Given the description of an element on the screen output the (x, y) to click on. 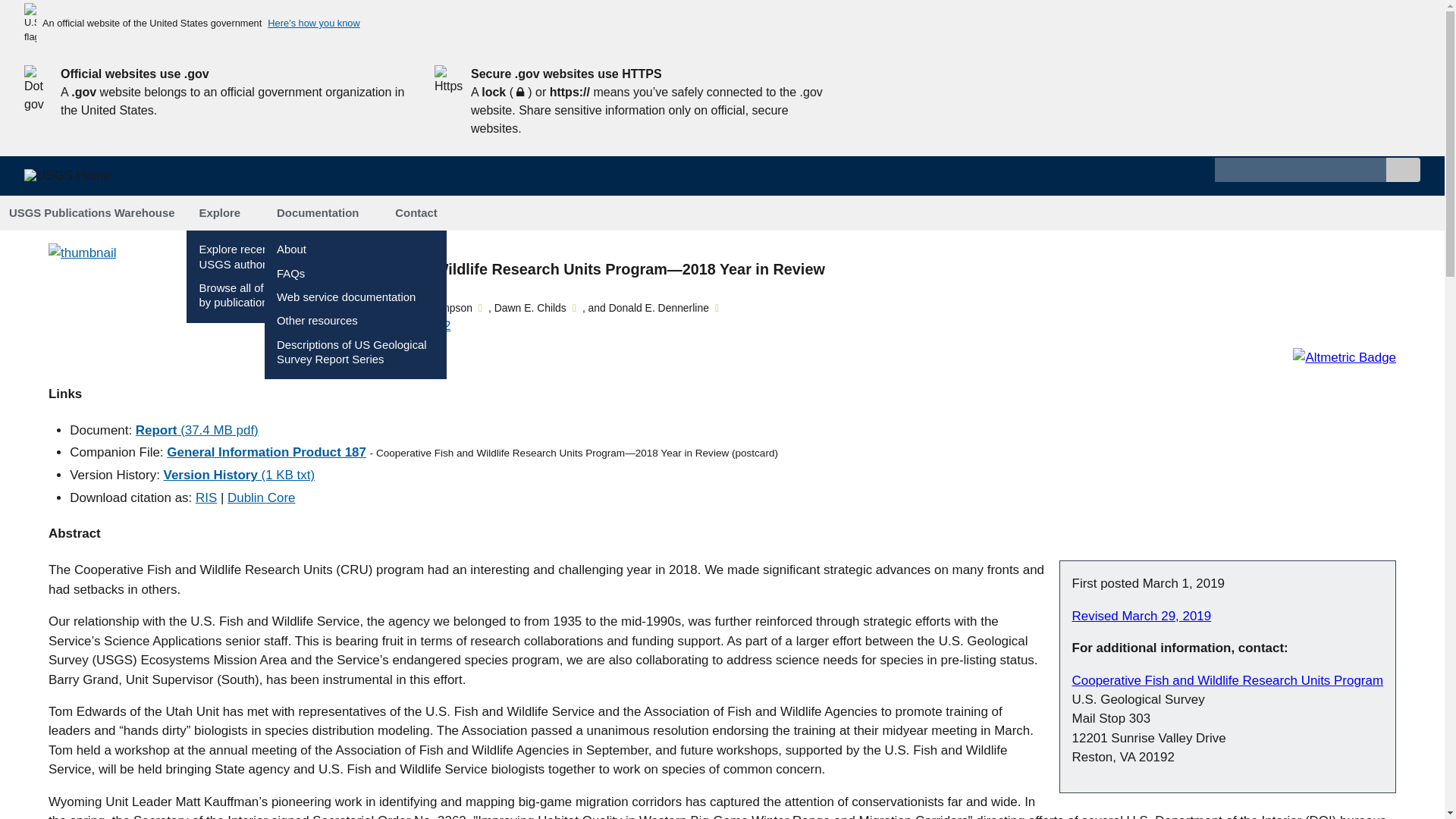
 Version History (239, 474)
Documentation (323, 213)
Dublin Core (261, 496)
RIS (205, 496)
General Information Product 187 (266, 452)
Cooperative Fish and Wildlife Research Units Program (1227, 680)
FAQs (290, 273)
Web service documentation (345, 297)
Home (73, 181)
Descriptions of US Geological Survey Report Series (351, 352)
